Given the description of an element on the screen output the (x, y) to click on. 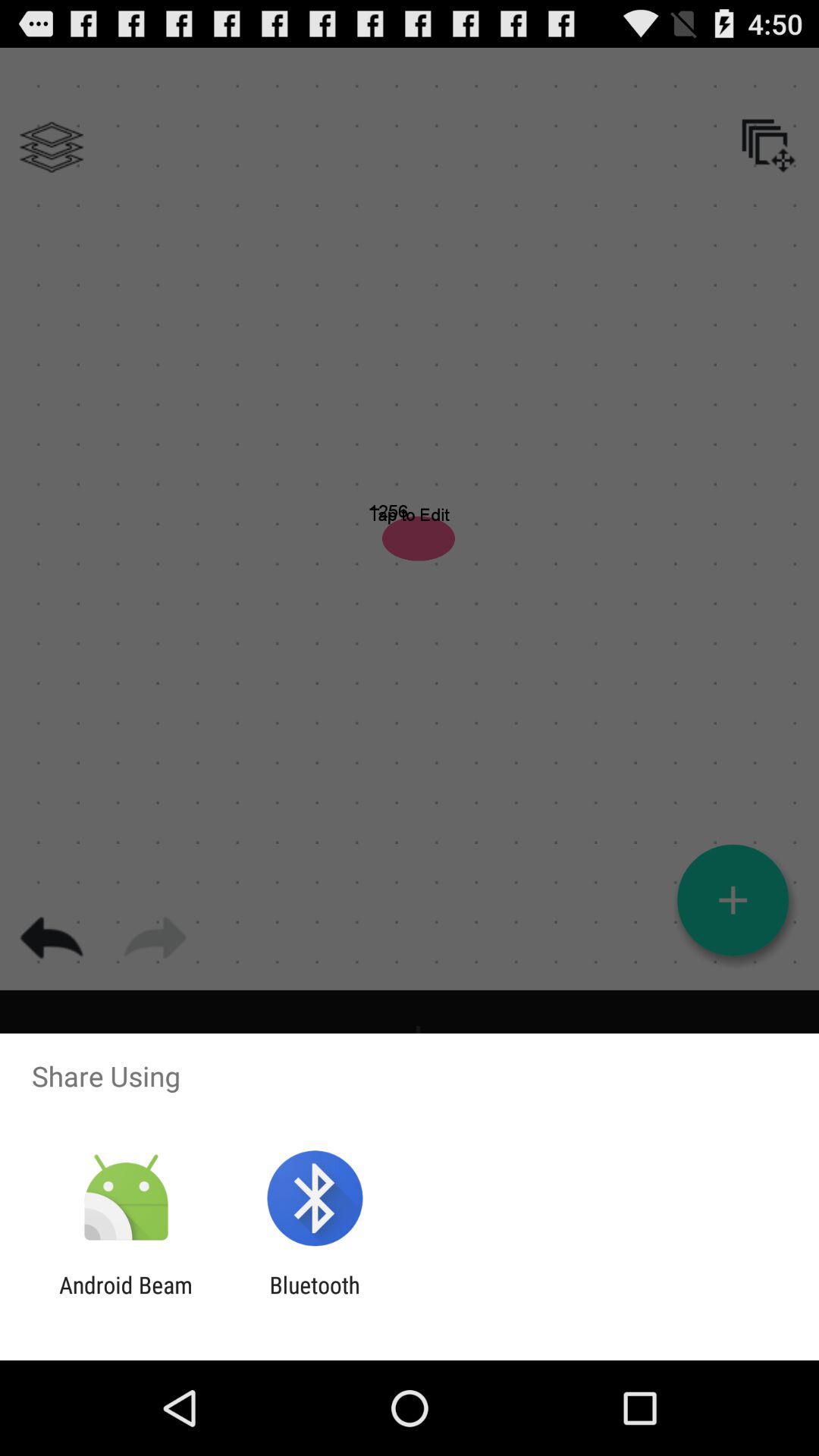
choose the bluetooth (314, 1298)
